Given the description of an element on the screen output the (x, y) to click on. 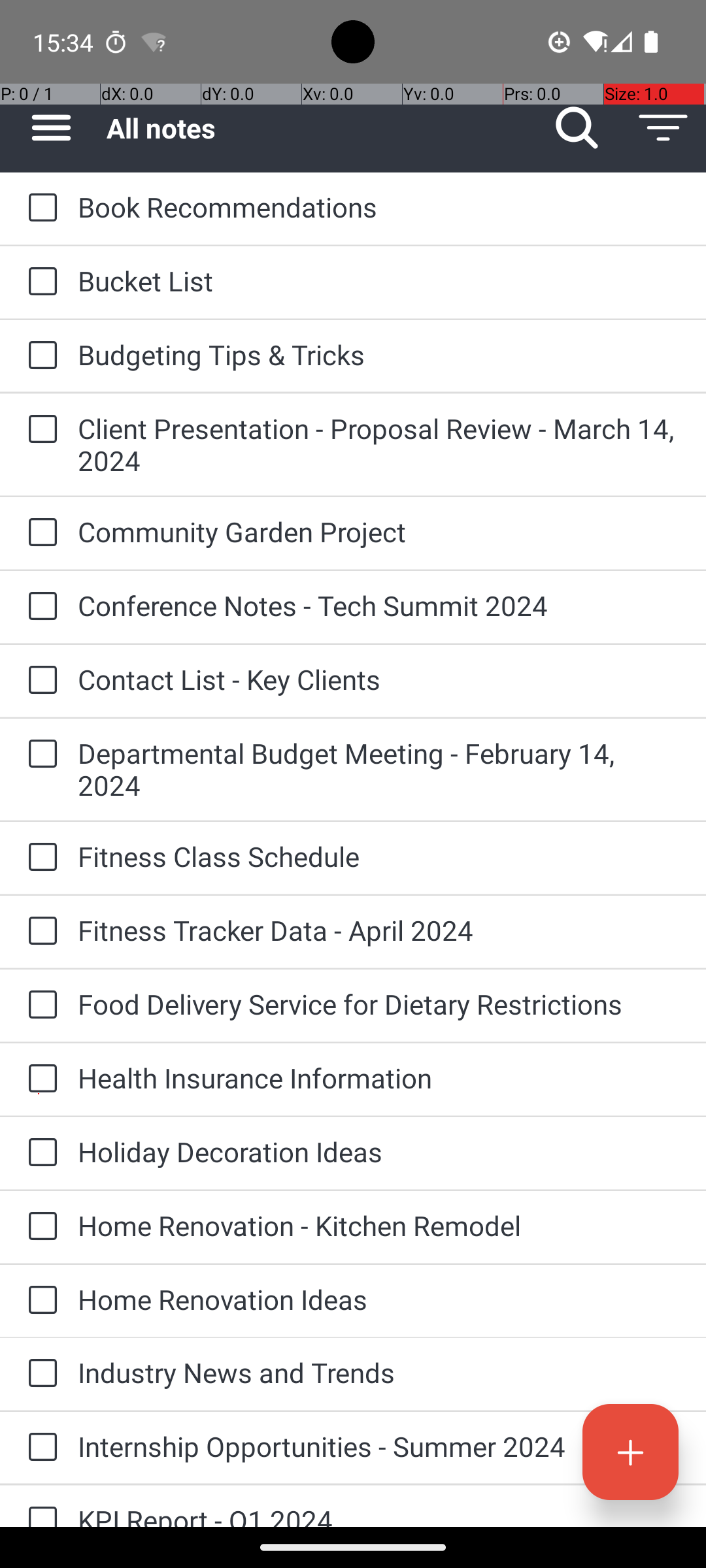
to-do: Book Recommendations Element type: android.widget.CheckBox (38, 208)
Book Recommendations Element type: android.widget.TextView (378, 206)
to-do: Bucket List Element type: android.widget.CheckBox (38, 282)
Bucket List Element type: android.widget.TextView (378, 280)
to-do: Client Presentation - Proposal Review - March 14, 2024 Element type: android.widget.CheckBox (38, 429)
Client Presentation - Proposal Review - March 14, 2024 Element type: android.widget.TextView (378, 443)
to-do: Community Garden Project Element type: android.widget.CheckBox (38, 533)
to-do: Conference Notes - Tech Summit 2024 Element type: android.widget.CheckBox (38, 606)
Conference Notes - Tech Summit 2024 Element type: android.widget.TextView (378, 604)
to-do: Contact List - Key Clients Element type: android.widget.CheckBox (38, 680)
Contact List - Key Clients Element type: android.widget.TextView (378, 678)
to-do: Departmental Budget Meeting - February 14, 2024 Element type: android.widget.CheckBox (38, 754)
Departmental Budget Meeting - February 14, 2024 Element type: android.widget.TextView (378, 768)
to-do: Food Delivery Service for Dietary Restrictions Element type: android.widget.CheckBox (38, 1005)
Food Delivery Service for Dietary Restrictions Element type: android.widget.TextView (378, 1003)
to-do: Health Insurance Information Element type: android.widget.CheckBox (38, 1079)
Health Insurance Information Element type: android.widget.TextView (378, 1077)
to-do: Holiday Decoration Ideas Element type: android.widget.CheckBox (38, 1153)
Holiday Decoration Ideas Element type: android.widget.TextView (378, 1151)
to-do: Home Renovation - Kitchen Remodel Element type: android.widget.CheckBox (38, 1226)
Home Renovation - Kitchen Remodel Element type: android.widget.TextView (378, 1224)
to-do: Home Renovation Ideas Element type: android.widget.CheckBox (38, 1300)
Home Renovation Ideas Element type: android.widget.TextView (378, 1298)
to-do: Industry News and Trends Element type: android.widget.CheckBox (38, 1373)
Industry News and Trends Element type: android.widget.TextView (378, 1371)
to-do: KPI Report - Q1 2024 Element type: android.widget.CheckBox (38, 1505)
KPI Report - Q1 2024 Element type: android.widget.TextView (378, 1513)
